Given the description of an element on the screen output the (x, y) to click on. 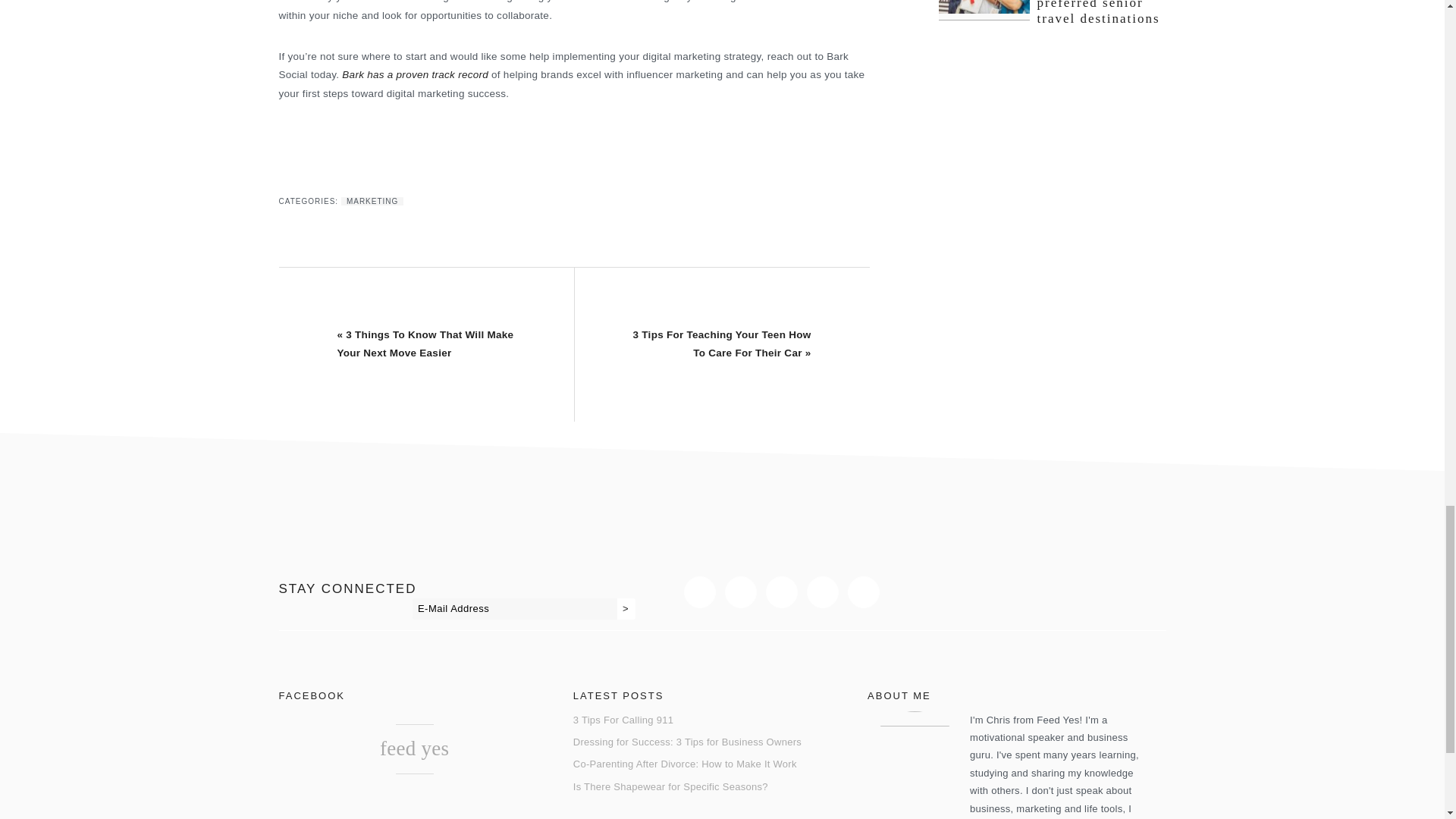
MARKETING (371, 201)
Bark has a proven track record (414, 74)
